Given the description of an element on the screen output the (x, y) to click on. 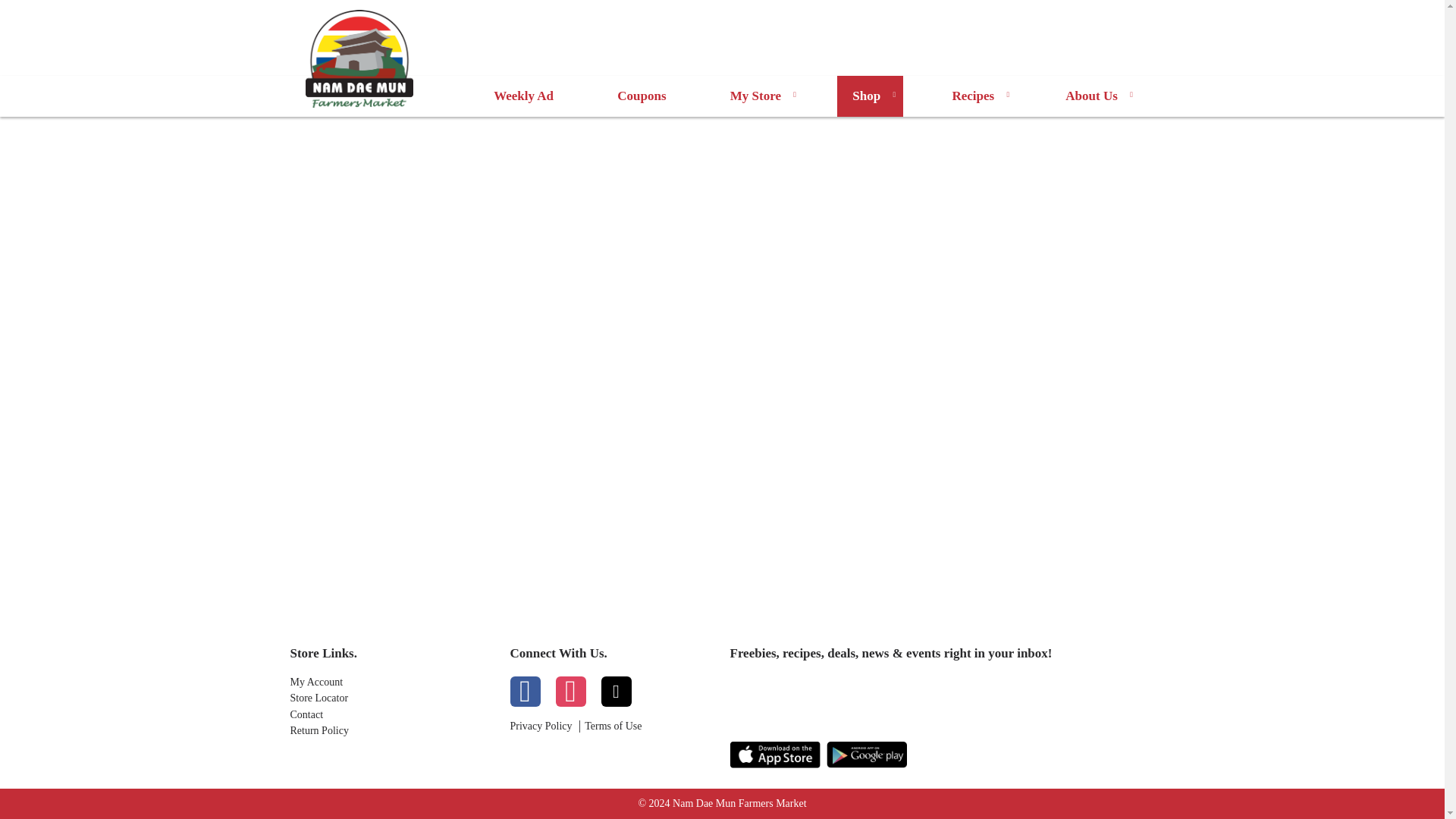
Return Policy (392, 730)
Contact (392, 715)
Store Locator (392, 698)
Recipes (976, 96)
instagram (569, 691)
My Store (758, 96)
Privacy Policy (540, 726)
About Us (1094, 96)
Weekly Ad (524, 96)
My Account (392, 682)
Facebook (524, 691)
Tiktok (614, 691)
Coupons (641, 96)
Shop (869, 96)
Terms of Use (613, 726)
